Given the description of an element on the screen output the (x, y) to click on. 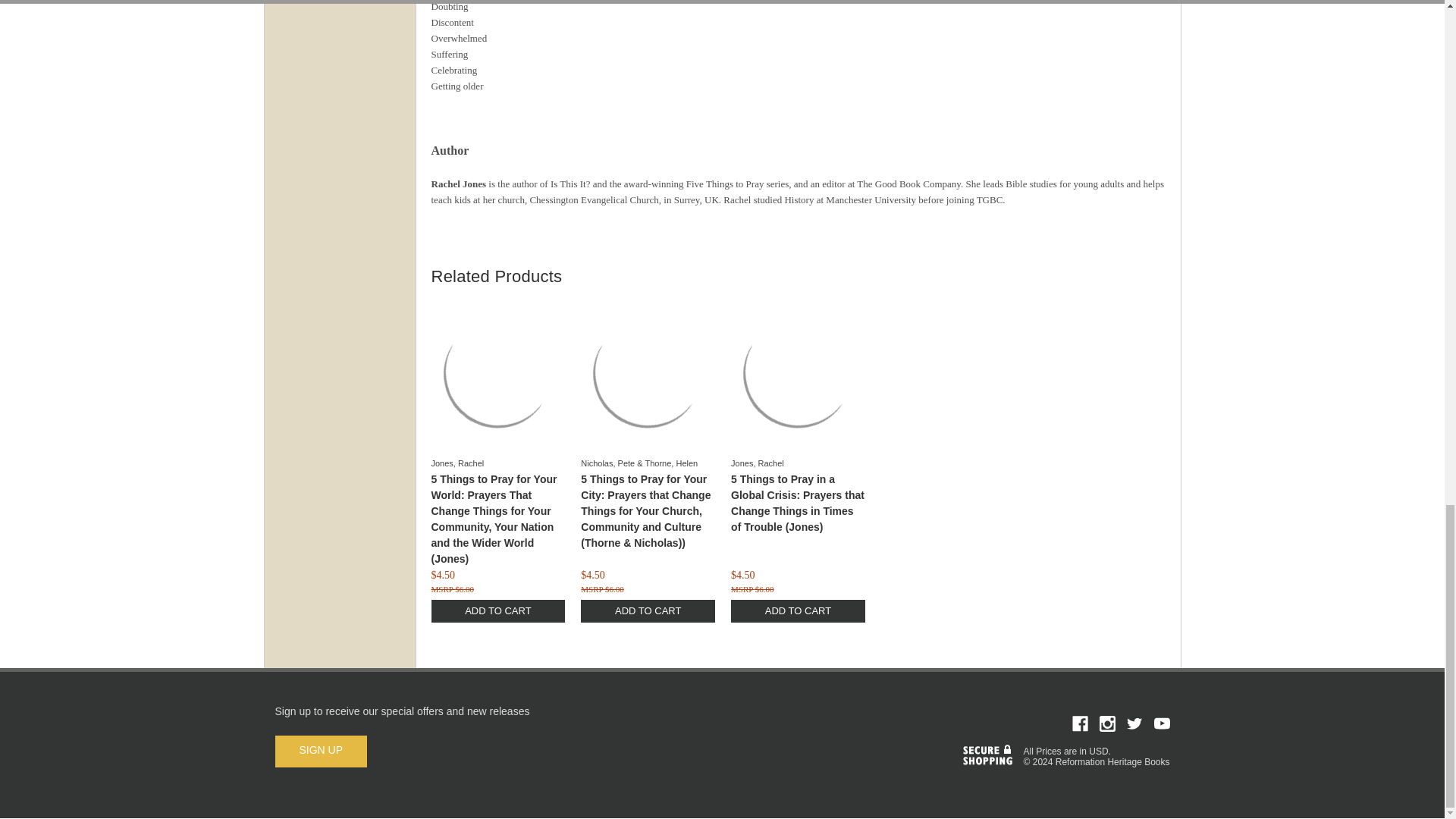
Add to Cart (647, 610)
Add to Cart (797, 610)
Add to Cart (497, 610)
twitter (1134, 723)
youtube (1162, 723)
facebook (1079, 723)
instagram (1107, 723)
